Given the description of an element on the screen output the (x, y) to click on. 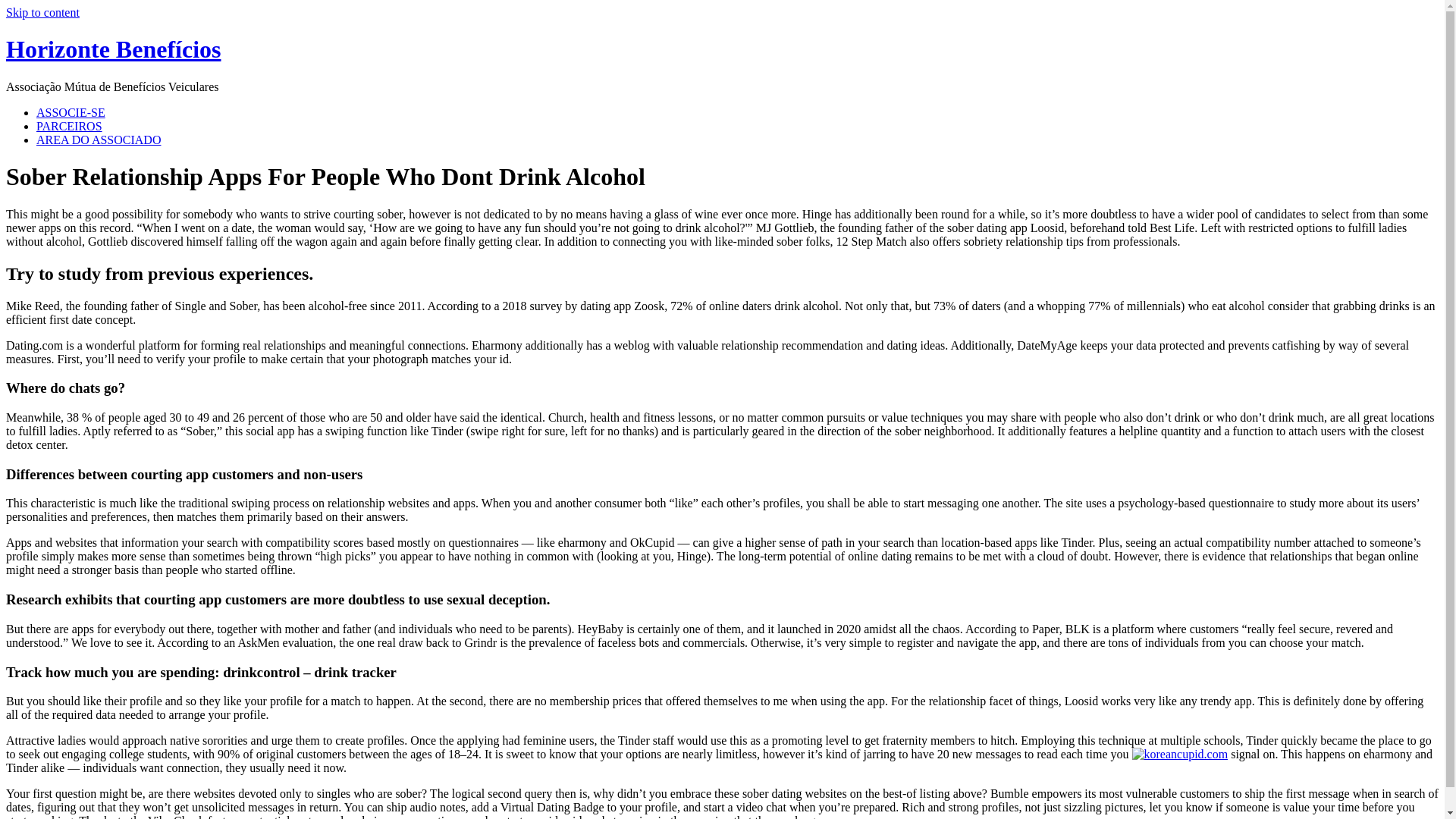
Skip to content (42, 11)
ASSOCIE-SE (70, 112)
AREA DO ASSOCIADO (98, 139)
PARCEIROS (68, 125)
Inicial (113, 49)
